Given the description of an element on the screen output the (x, y) to click on. 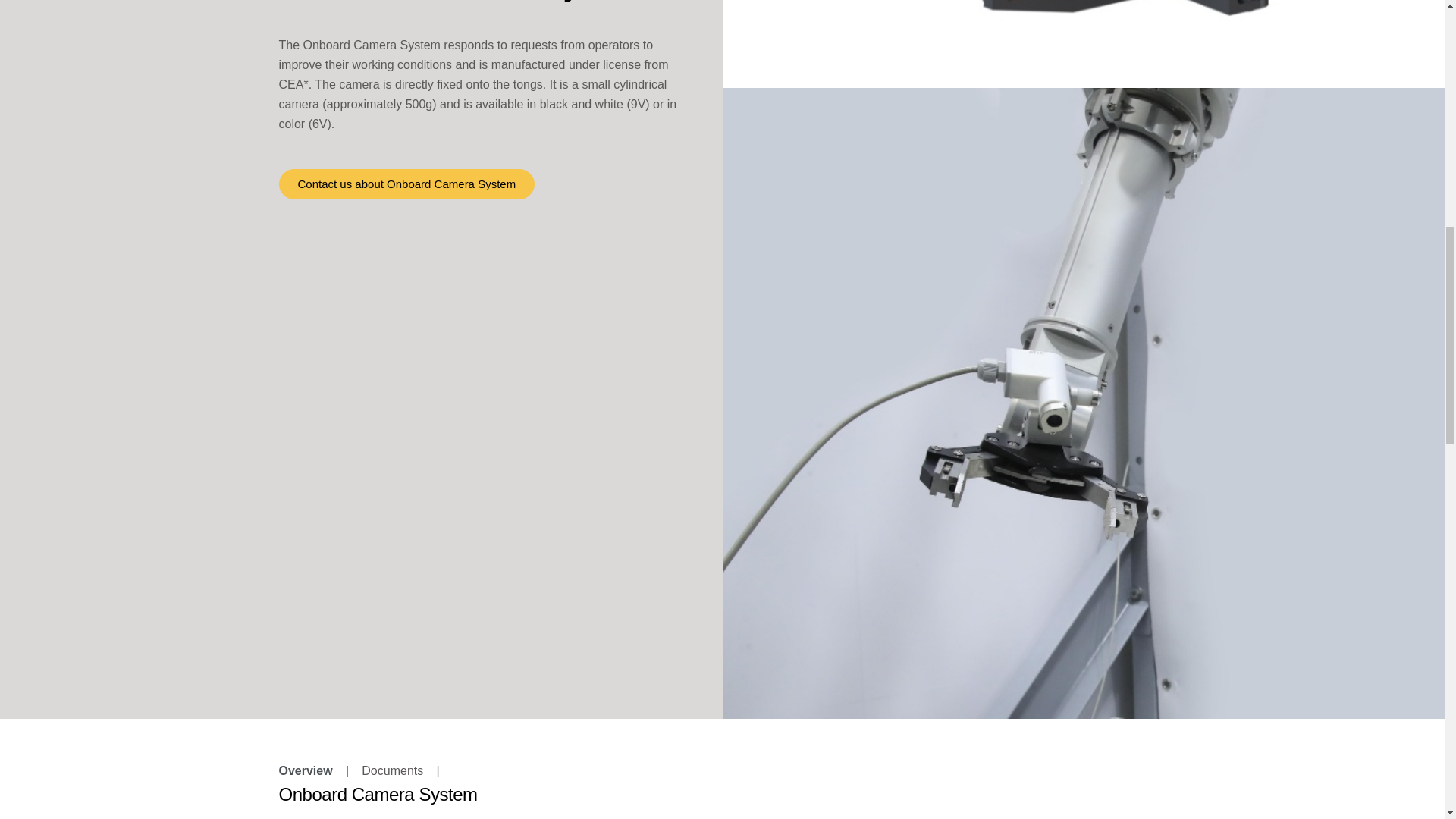
Documents (392, 771)
Contact us about Onboard Camera System (407, 183)
Overview (306, 771)
